Given the description of an element on the screen output the (x, y) to click on. 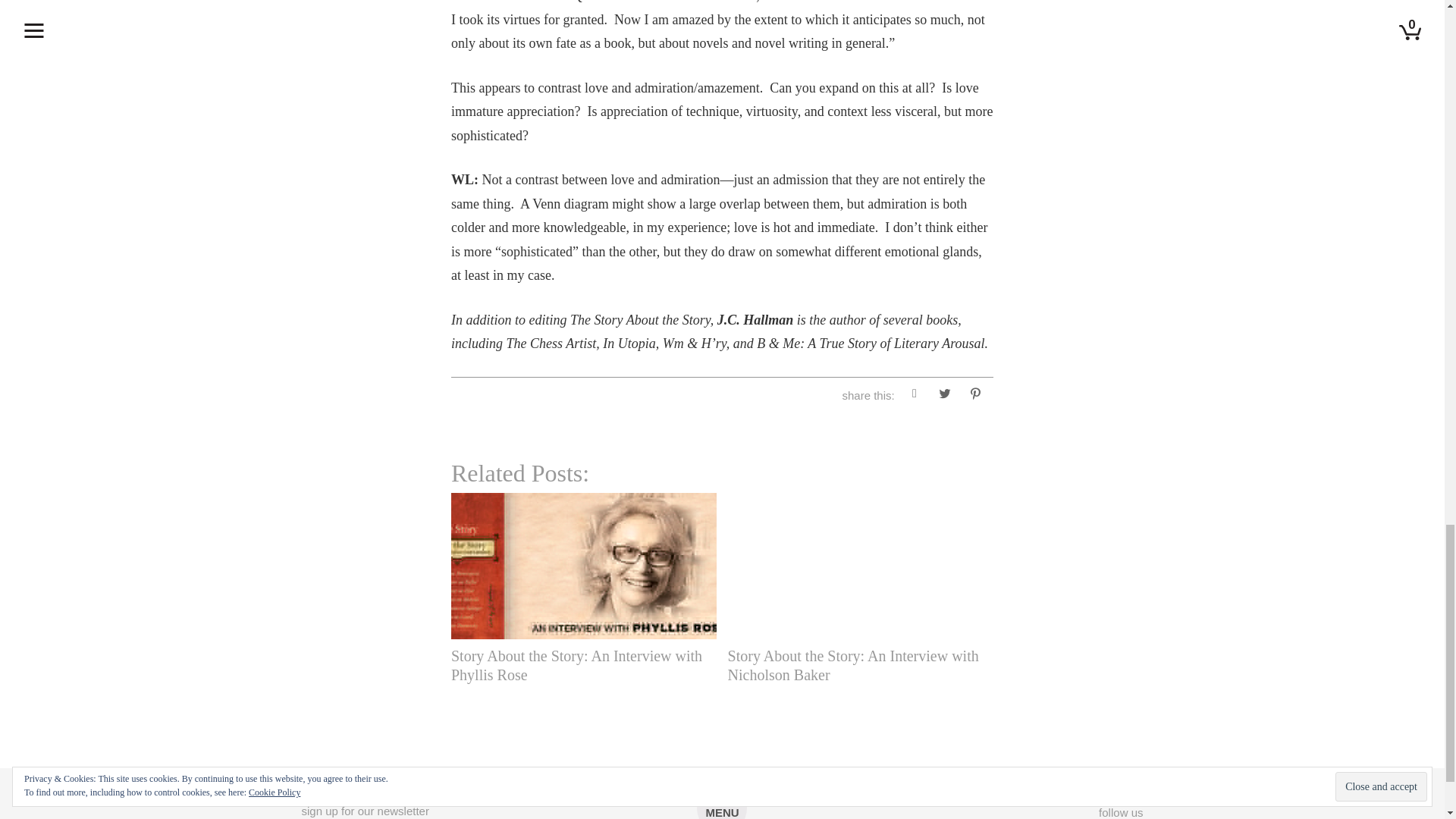
Click to share on Pinterest (974, 395)
Click to share on Facebook (914, 395)
Click to share on Twitter (944, 395)
